Given the description of an element on the screen output the (x, y) to click on. 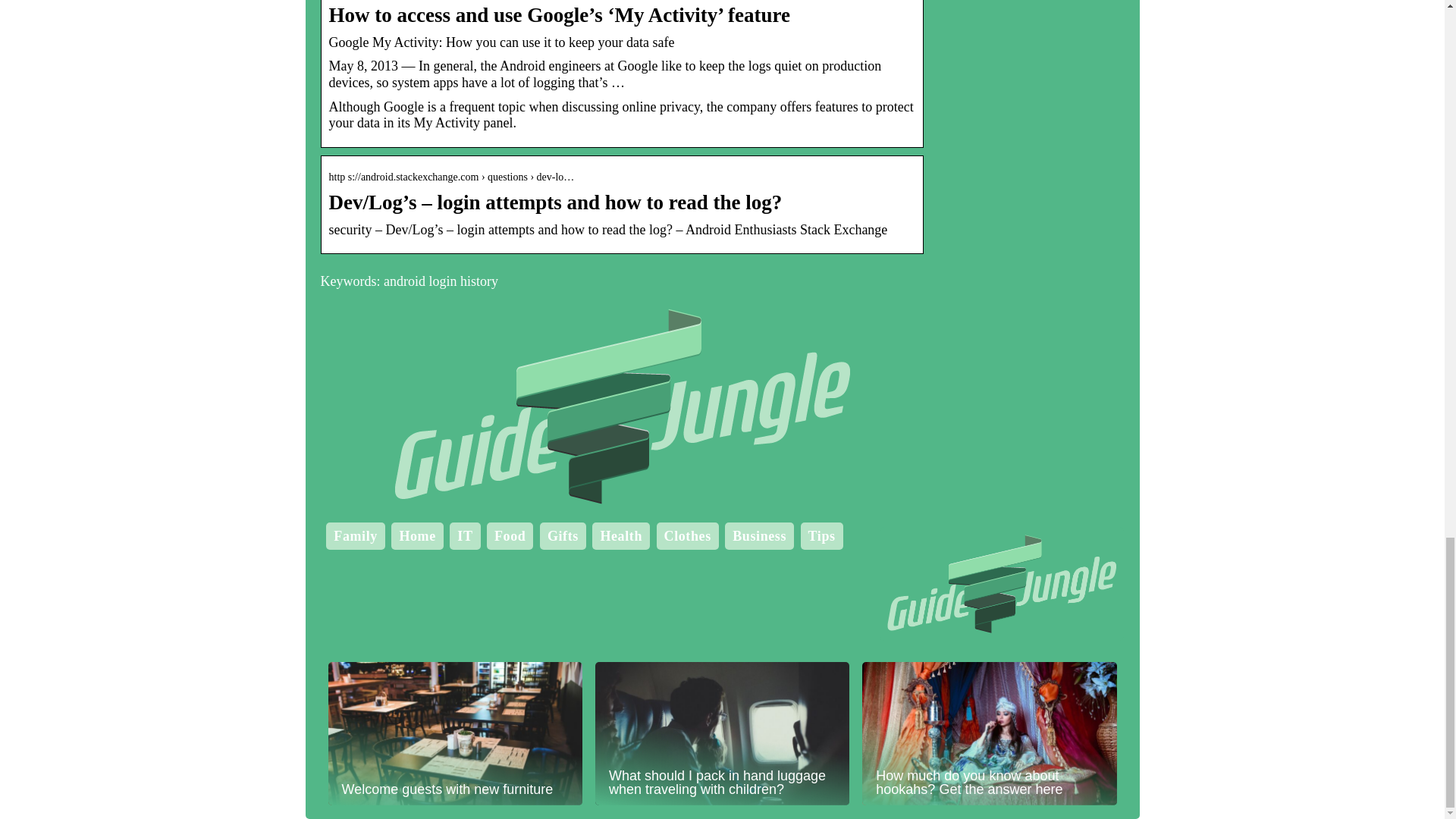
Health (620, 535)
Food (510, 535)
IT (464, 535)
Clothes (687, 535)
Family (355, 535)
Tips (821, 535)
Gifts (562, 535)
Business (759, 535)
Home (416, 535)
